Given the description of an element on the screen output the (x, y) to click on. 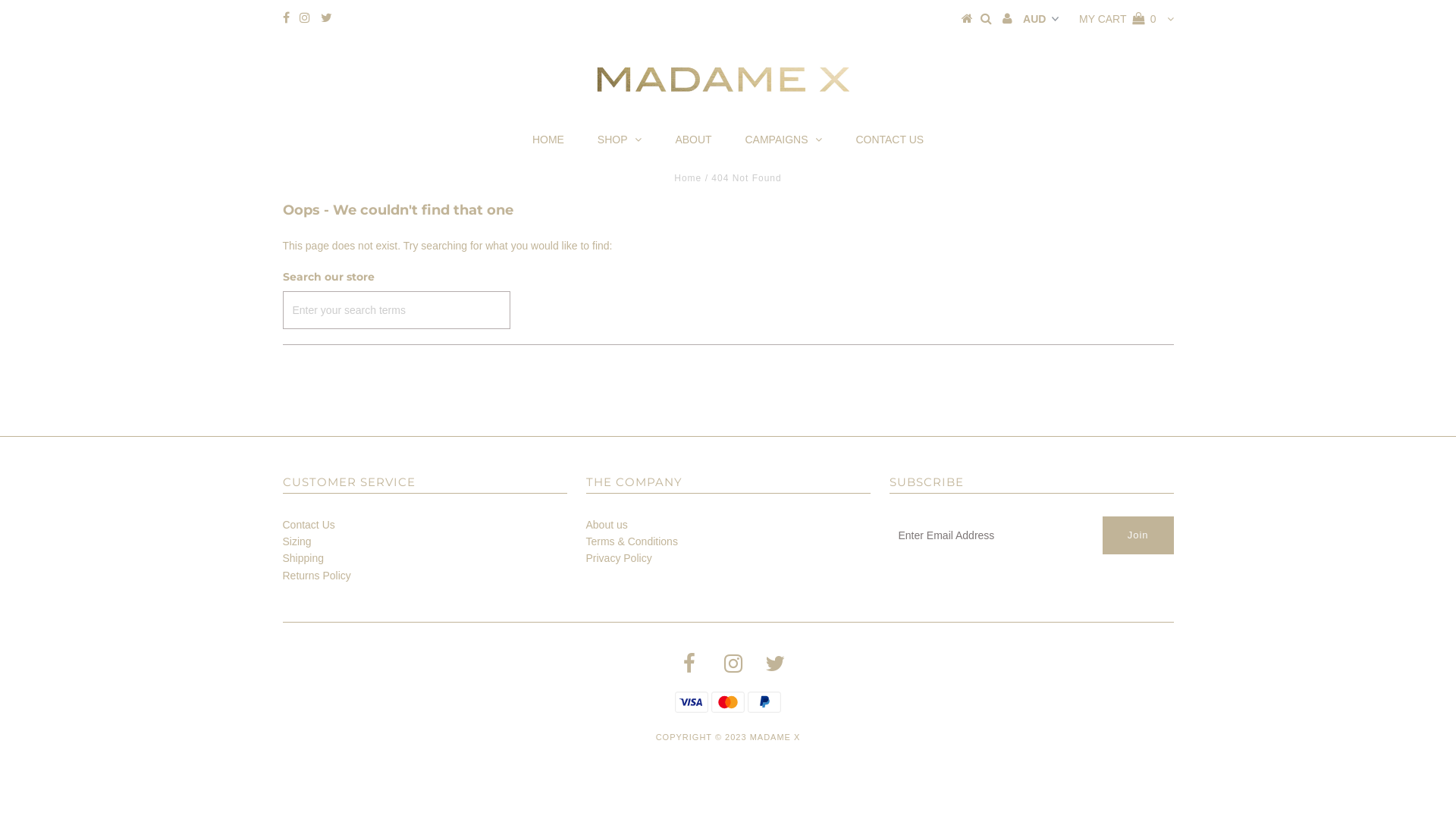
Contact Us Element type: text (308, 524)
CAMPAIGNS Element type: text (783, 139)
Returns Policy Element type: text (316, 575)
Sizing Element type: text (296, 541)
HOME Element type: text (548, 139)
Join Element type: text (1137, 535)
Privacy Policy Element type: text (618, 558)
SHOP Element type: text (619, 139)
Terms & Conditions Element type: text (631, 541)
Home Element type: text (687, 177)
Shipping Element type: text (302, 558)
ABOUT Element type: text (692, 139)
MADAME X Element type: text (774, 736)
CONTACT US Element type: text (889, 139)
About us Element type: text (606, 524)
MY CART    0 Element type: text (1117, 18)
